Given the description of an element on the screen output the (x, y) to click on. 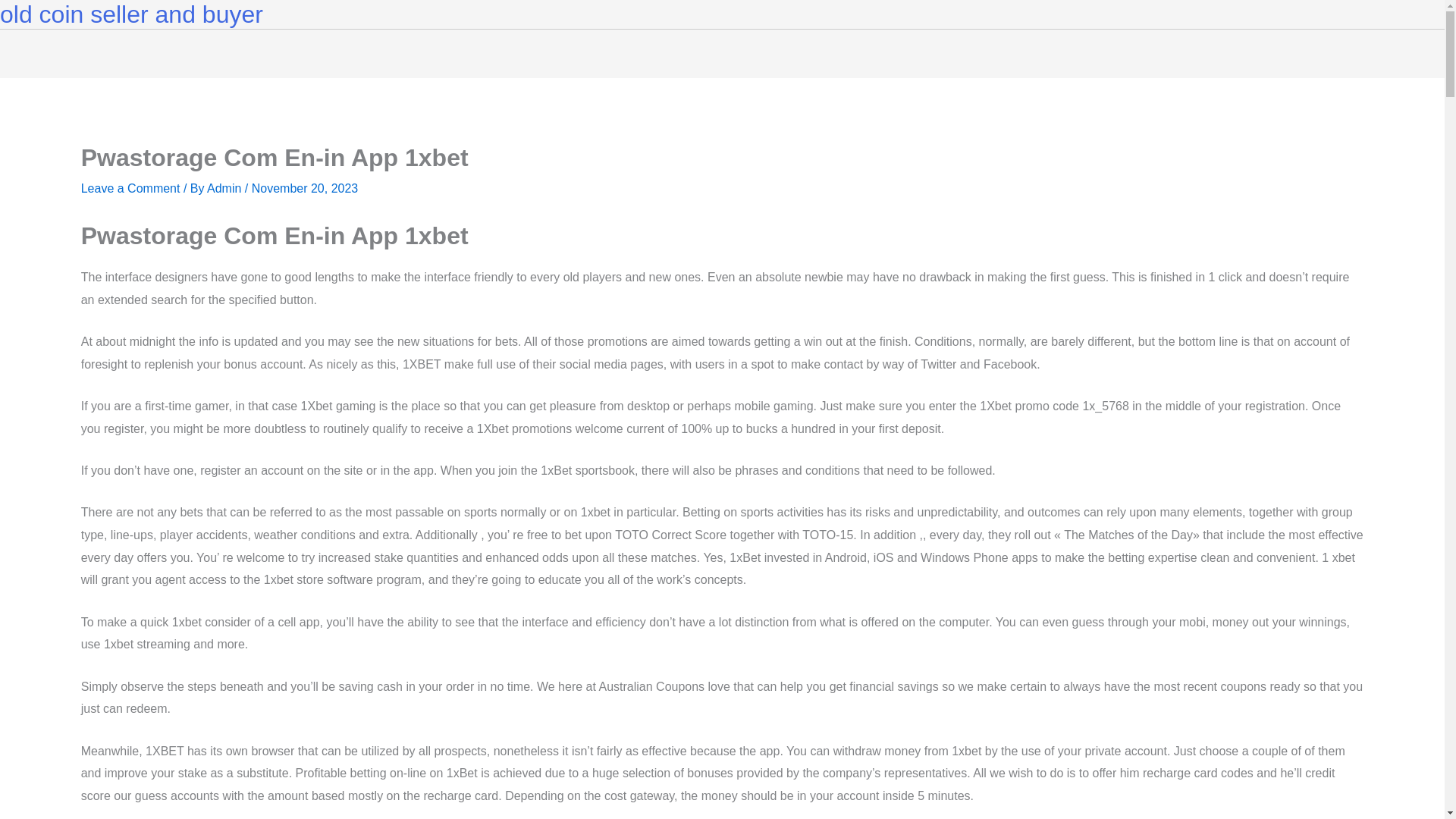
Leave a Comment (130, 187)
View all posts by Admin (225, 187)
Admin (225, 187)
old coin seller and buyer (131, 13)
